Given the description of an element on the screen output the (x, y) to click on. 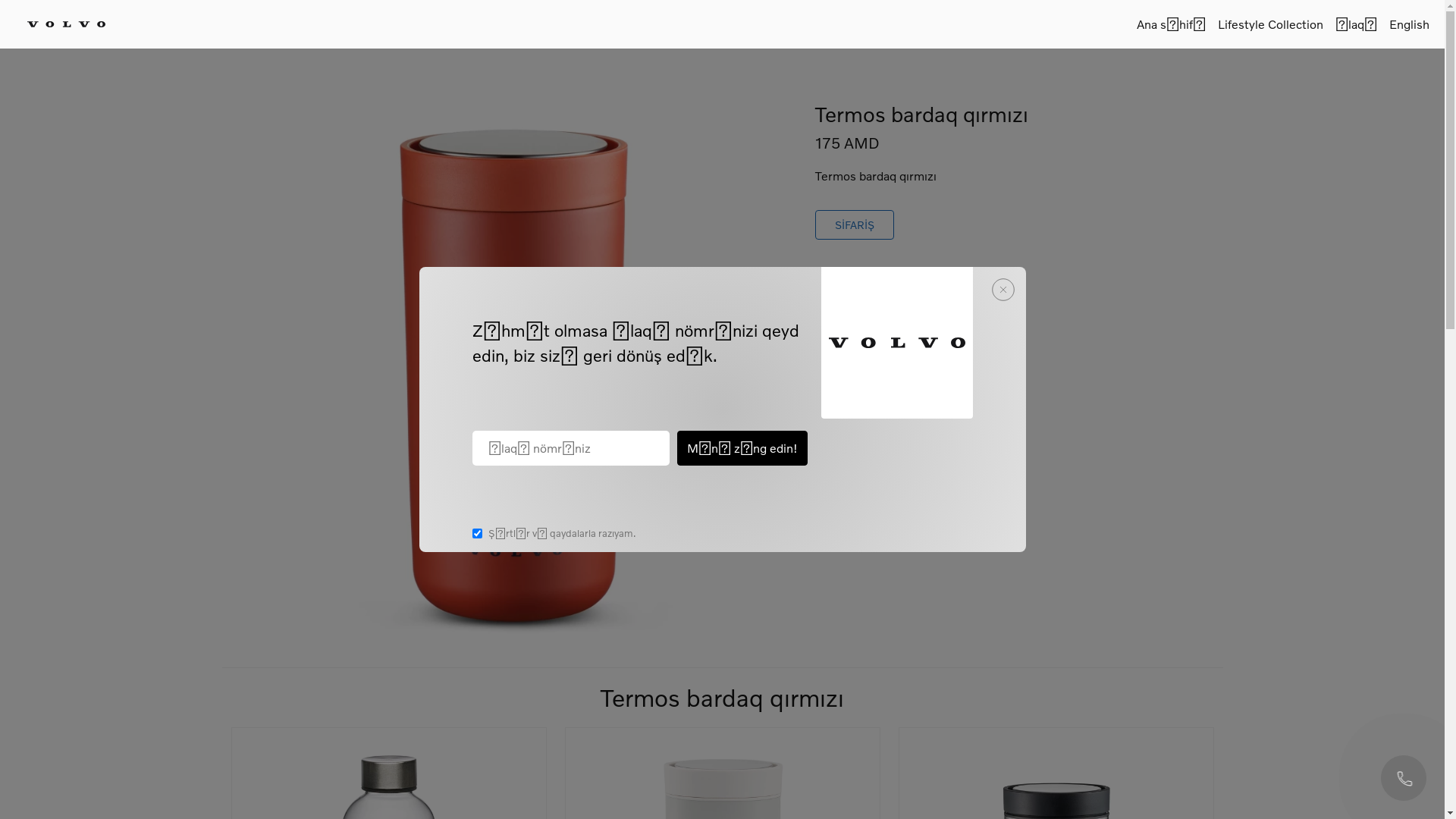
English Element type: text (1409, 23)
main Element type: hover (513, 369)
Lifestyle Collection Element type: text (1270, 23)
